Given the description of an element on the screen output the (x, y) to click on. 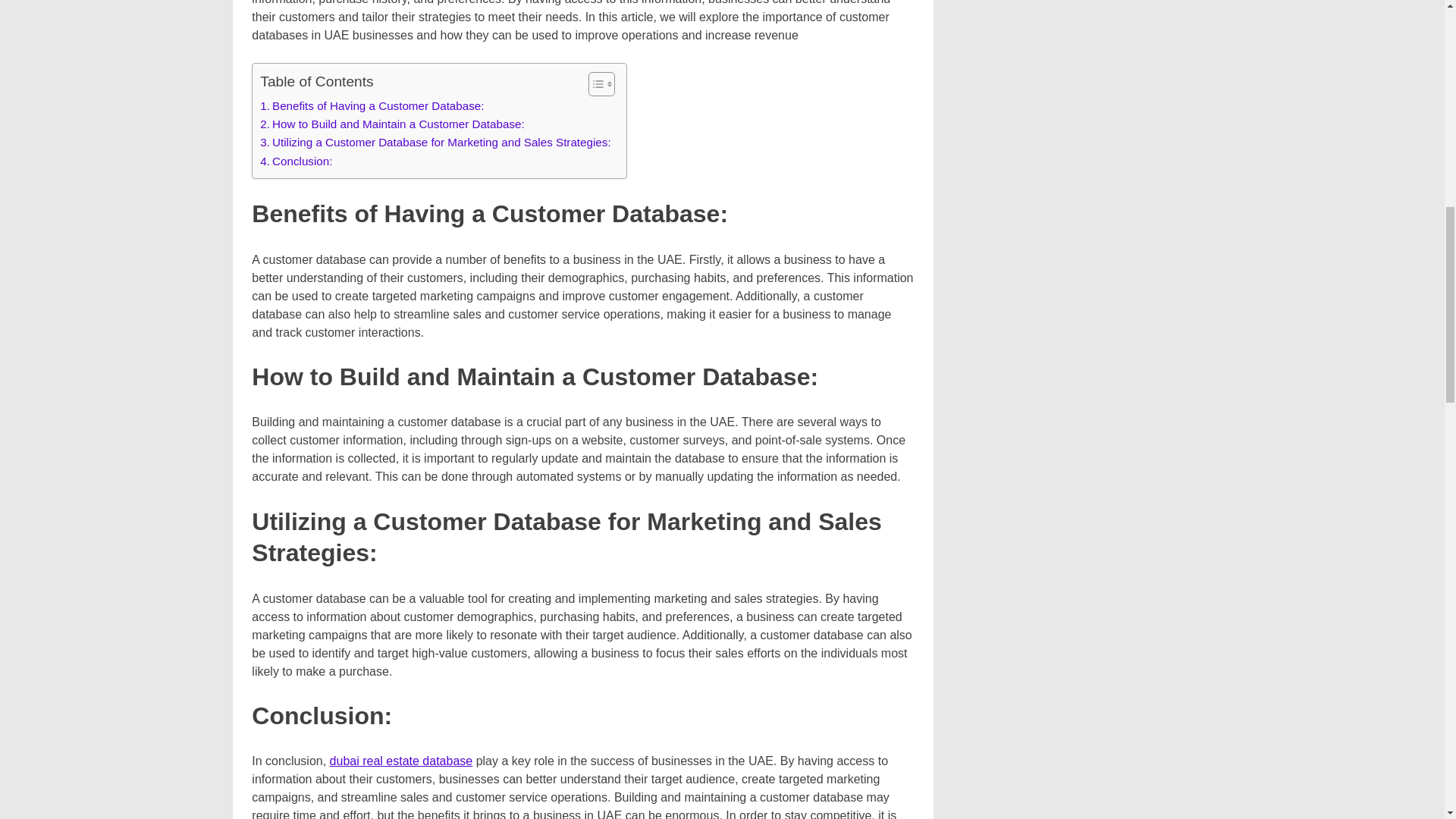
How to Build and Maintain a Customer Database: (392, 124)
Conclusion: (295, 161)
How to Build and Maintain a Customer Database: (392, 124)
Benefits of Having a Customer Database: (371, 106)
Conclusion: (295, 161)
dubai real estate database (401, 760)
Benefits of Having a Customer Database: (371, 106)
